Given the description of an element on the screen output the (x, y) to click on. 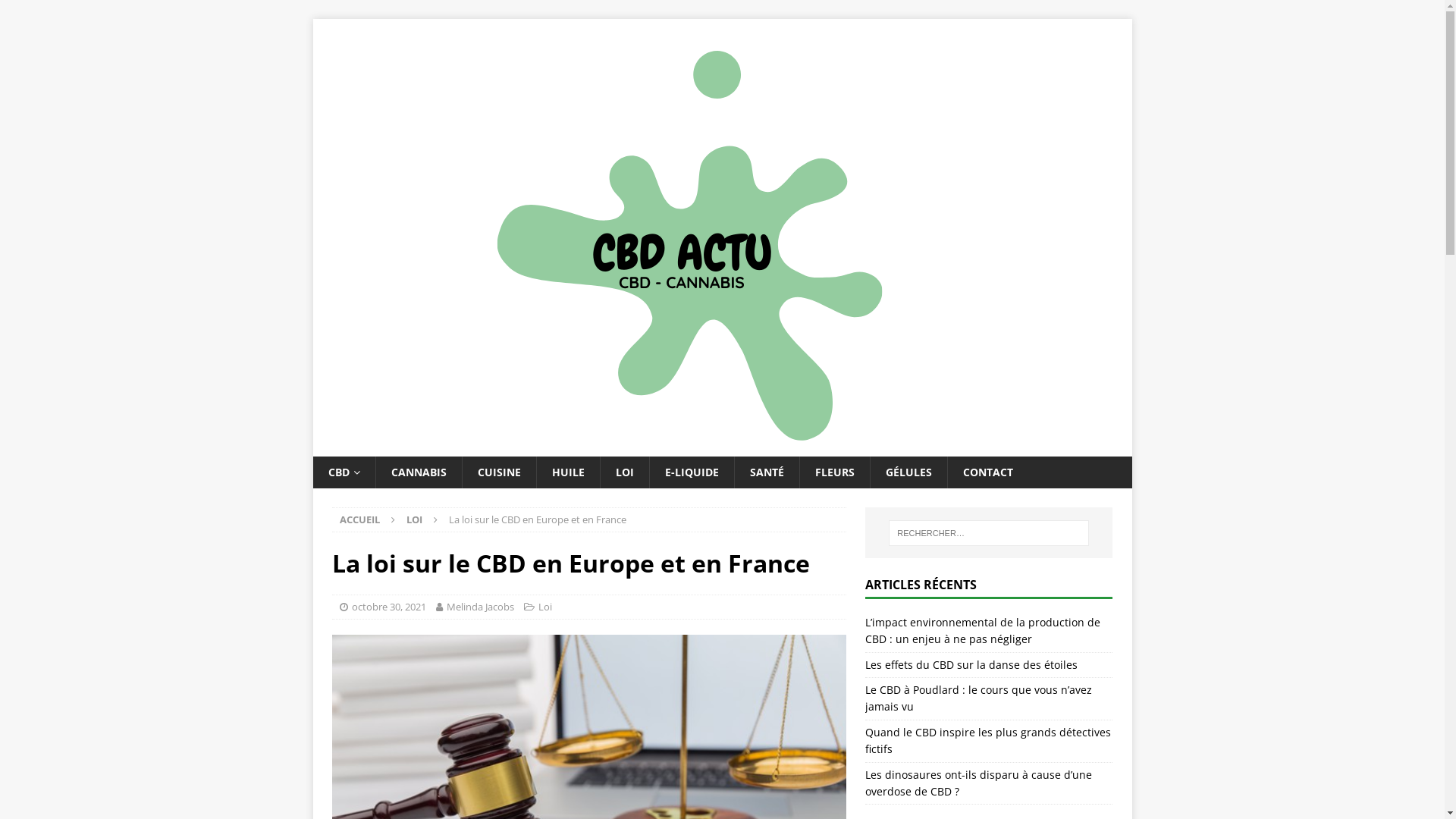
Rechercher Element type: text (56, 11)
LOI Element type: text (623, 472)
FLEURS Element type: text (834, 472)
Loi Element type: text (545, 606)
CUISINE Element type: text (498, 472)
CANNABIS Element type: text (417, 472)
Melinda Jacobs Element type: text (479, 606)
octobre 30, 2021 Element type: text (388, 606)
ACCUEIL Element type: text (359, 519)
CBD Element type: text (343, 472)
CONTACT Element type: text (986, 472)
LOI Element type: text (414, 519)
HUILE Element type: text (567, 472)
E-LIQUIDE Element type: text (691, 472)
